Given the description of an element on the screen output the (x, y) to click on. 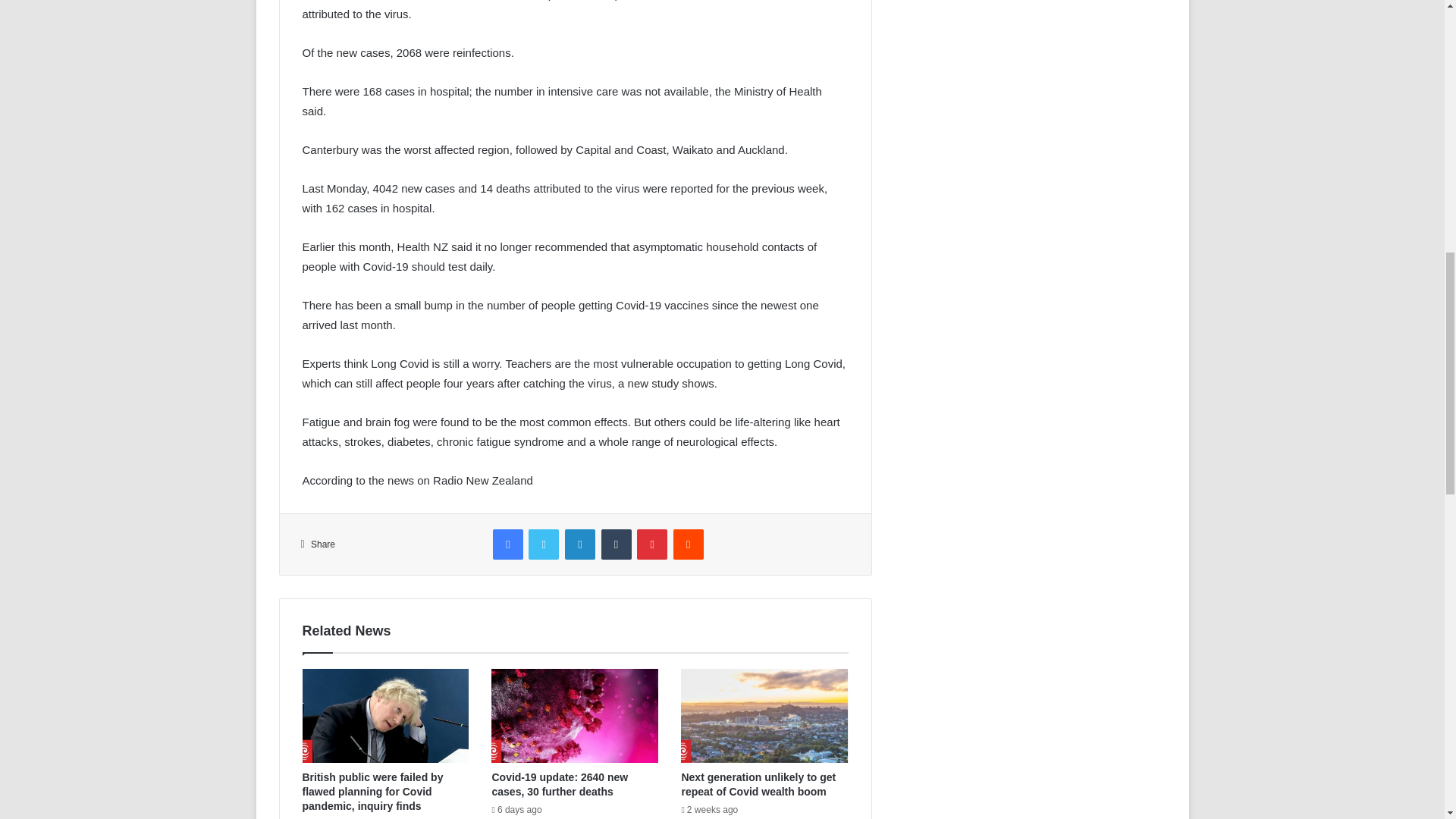
Facebook (507, 544)
Facebook (507, 544)
Covid-19 update: 2640 new cases, 30 further deaths (559, 784)
Tumblr (616, 544)
Twitter (543, 544)
Pinterest (651, 544)
Reddit (687, 544)
Pinterest (651, 544)
Reddit (687, 544)
Twitter (543, 544)
LinkedIn (579, 544)
Next generation unlikely to get repeat of Covid wealth boom (758, 784)
LinkedIn (579, 544)
Tumblr (616, 544)
